Given the description of an element on the screen output the (x, y) to click on. 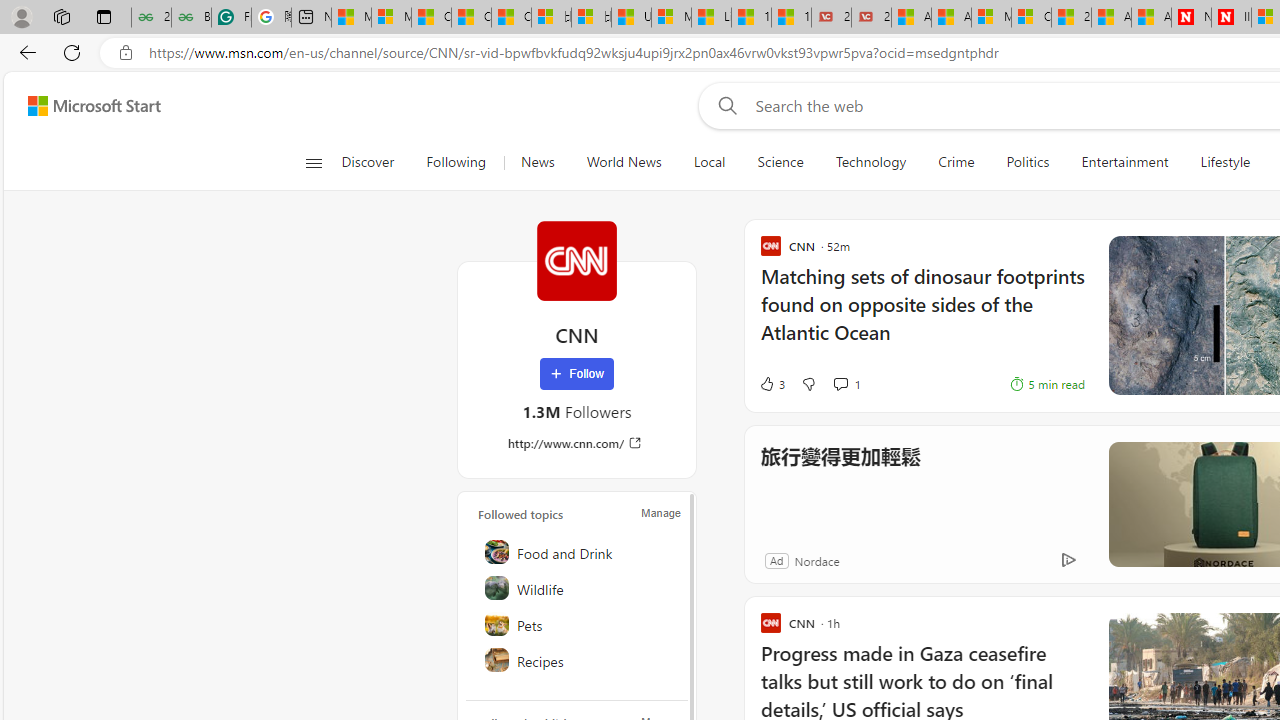
Best SSL Certificates Provider in India - GeeksforGeeks (191, 17)
Ad (776, 560)
Entertainment (1124, 162)
World News (623, 162)
News (537, 162)
Newsweek - News, Analysis, Politics, Business, Technology (1191, 17)
Skip to footer (82, 105)
Crime (956, 162)
Lifestyle - MSN (711, 17)
View comments 1 Comment (840, 383)
Nordace (816, 560)
Entertainment (1124, 162)
Recipes (578, 659)
Science (780, 162)
